Given the description of an element on the screen output the (x, y) to click on. 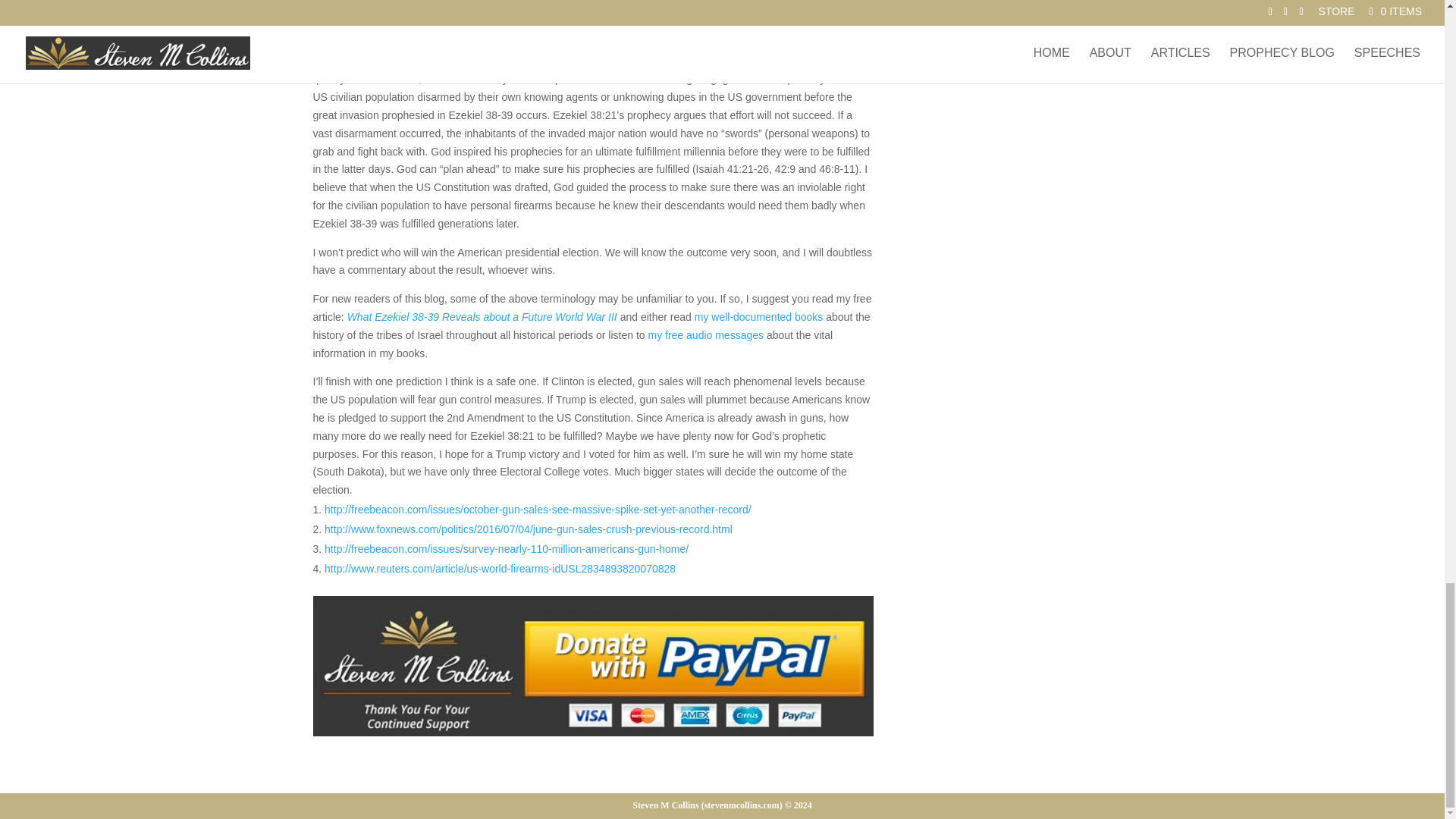
my free audio messages (704, 335)
my well-documented books (759, 316)
What Ezekiel 38-39 Reveals about a Future World War III (482, 316)
